Given the description of an element on the screen output the (x, y) to click on. 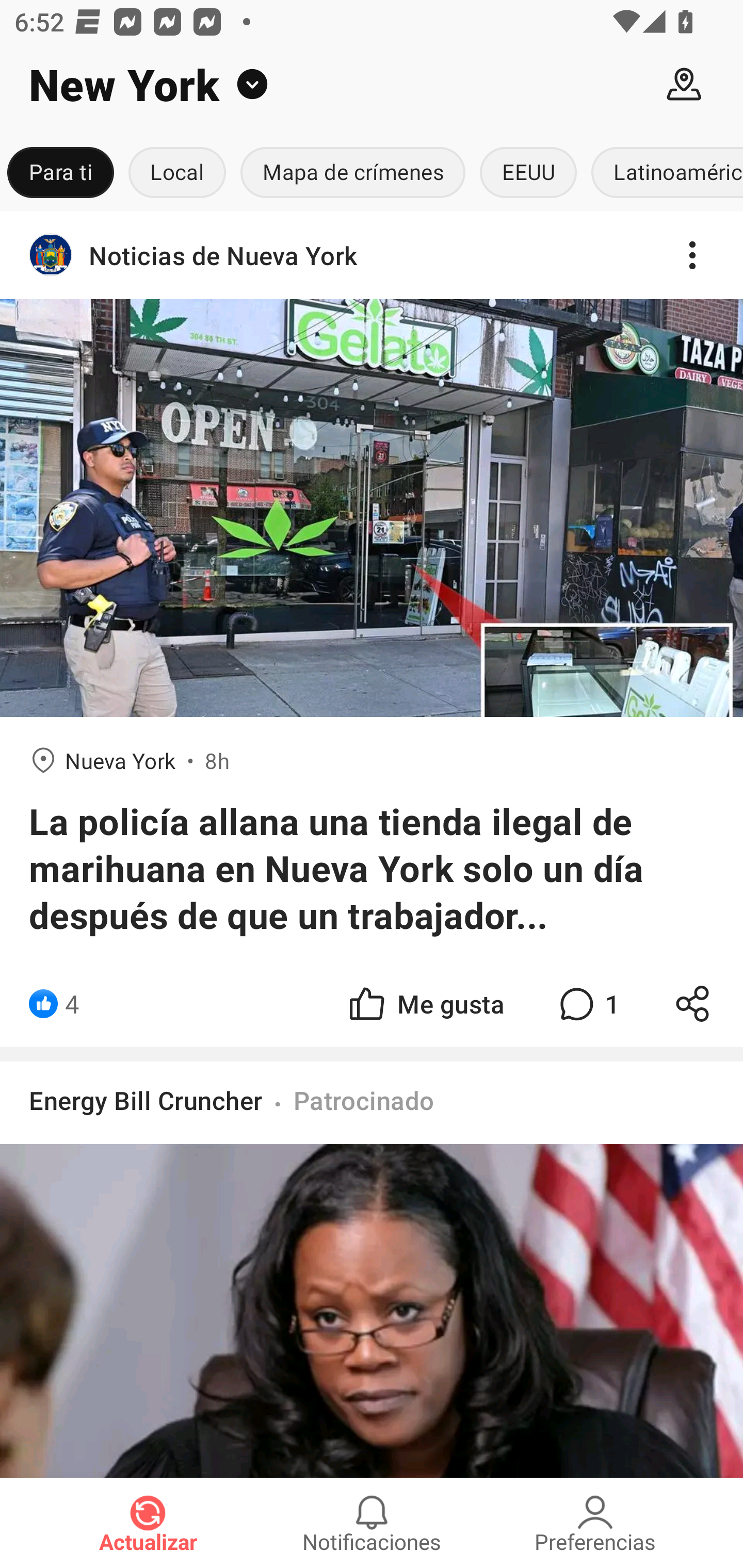
New York (325, 84)
Para ti (60, 172)
Local (177, 172)
Mapa de crímenes (352, 172)
EEUU (527, 172)
Latinoamérica (663, 172)
Noticias de Nueva York (371, 255)
4 (72, 1003)
Me gusta (424, 1003)
1 (587, 1003)
Energy Bill Cruncher (145, 1099)
Notificaciones (371, 1522)
Preferencias (594, 1522)
